Given the description of an element on the screen output the (x, y) to click on. 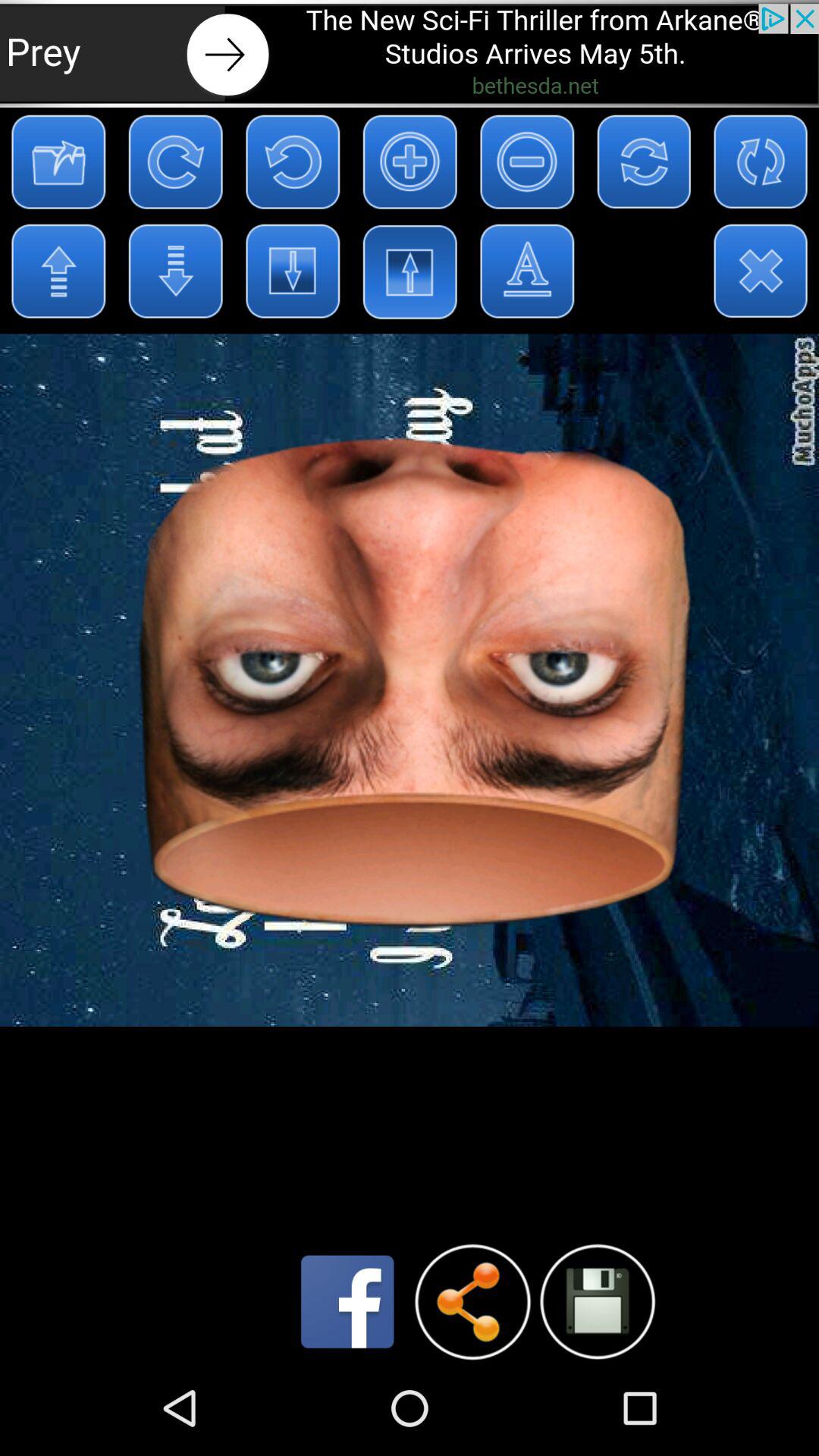
go to next (409, 53)
